Given the description of an element on the screen output the (x, y) to click on. 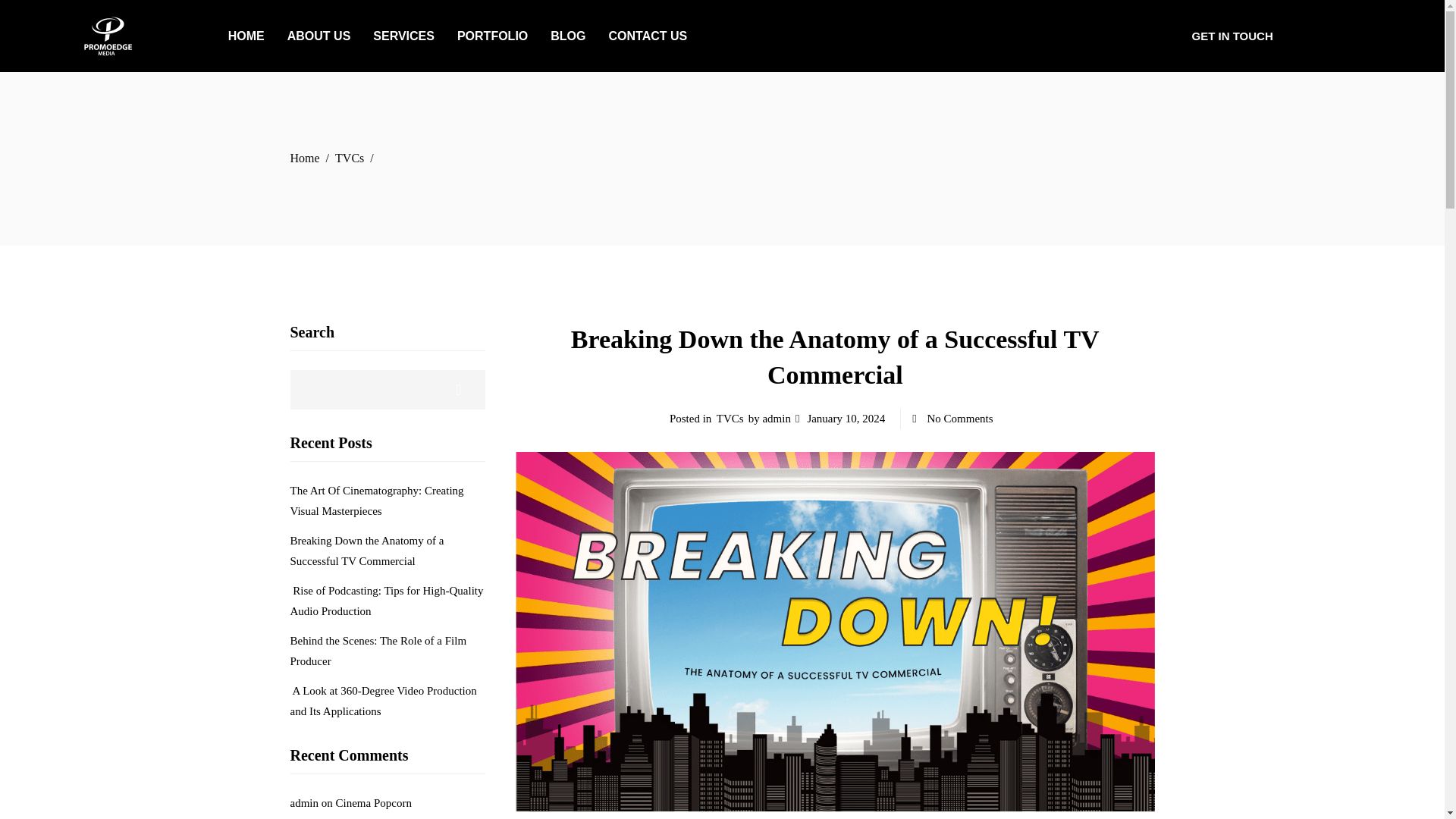
PORTFOLIO (491, 36)
TVCs (349, 157)
GET IN TOUCH (1232, 35)
admin (775, 418)
BLOG (567, 36)
HOME (246, 36)
CONTACT US (647, 36)
TVCs (730, 418)
SERVICES (403, 36)
Home (303, 157)
No Comments (959, 418)
ABOUT US (319, 36)
